Given the description of an element on the screen output the (x, y) to click on. 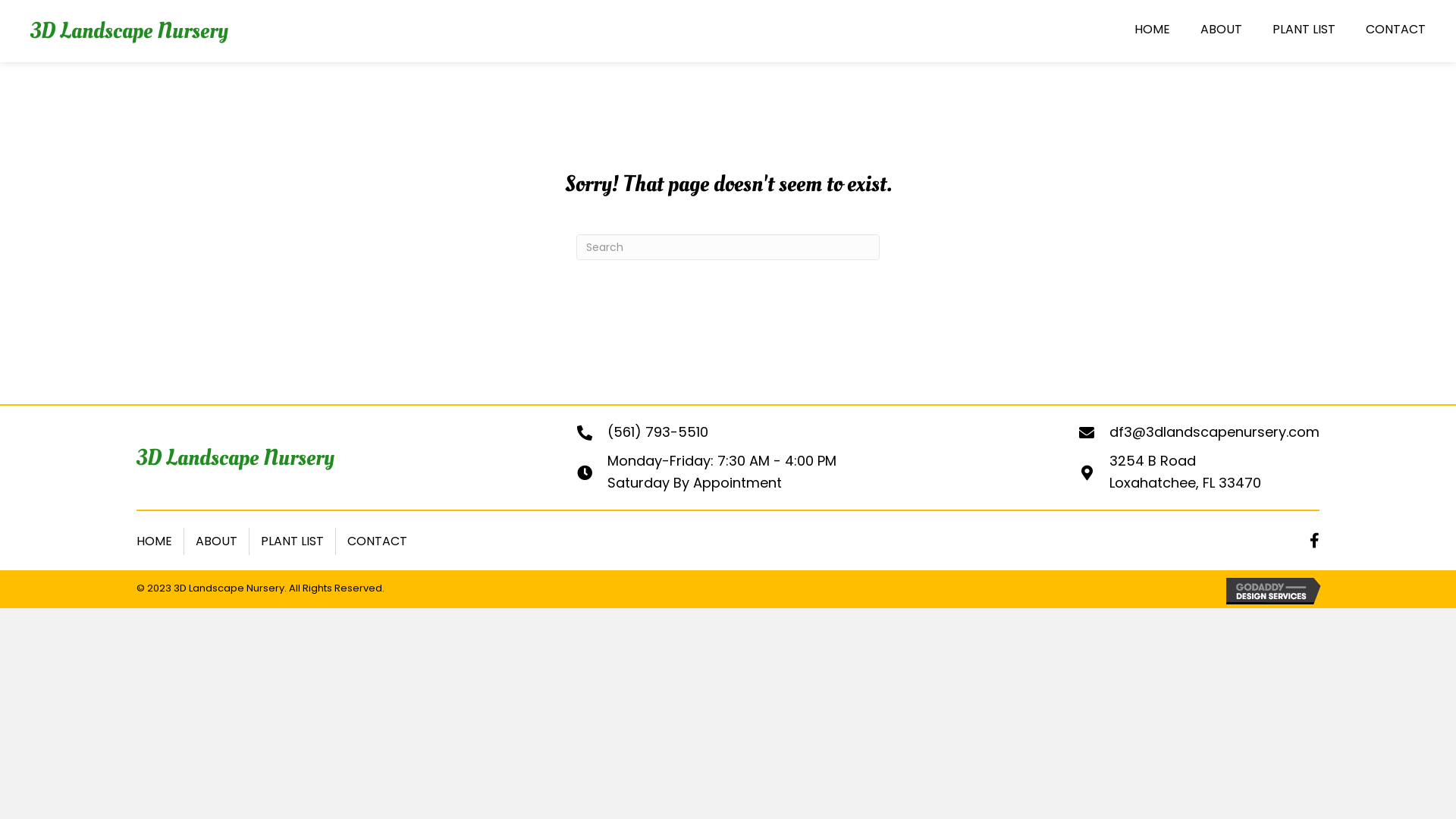
ABOUT Element type: text (216, 541)
df3@3dlandscapenursery.com Element type: text (1214, 431)
ABOUT Element type: text (1221, 30)
PLANT LIST Element type: text (1303, 30)
3254 B Road
Loxahatchee, FL 33470 Element type: text (1185, 471)
3D Landscape Nursery Element type: text (235, 457)
Type and press Enter to search. Element type: hover (727, 247)
HOME Element type: text (1152, 30)
3D Landscape Nursery Element type: text (129, 30)
CONTACT Element type: text (1395, 30)
HOME Element type: text (154, 541)
PLANT LIST Element type: text (292, 541)
(561) 793-5510 Element type: text (657, 431)
CONTACT Element type: text (376, 541)
